Given the description of an element on the screen output the (x, y) to click on. 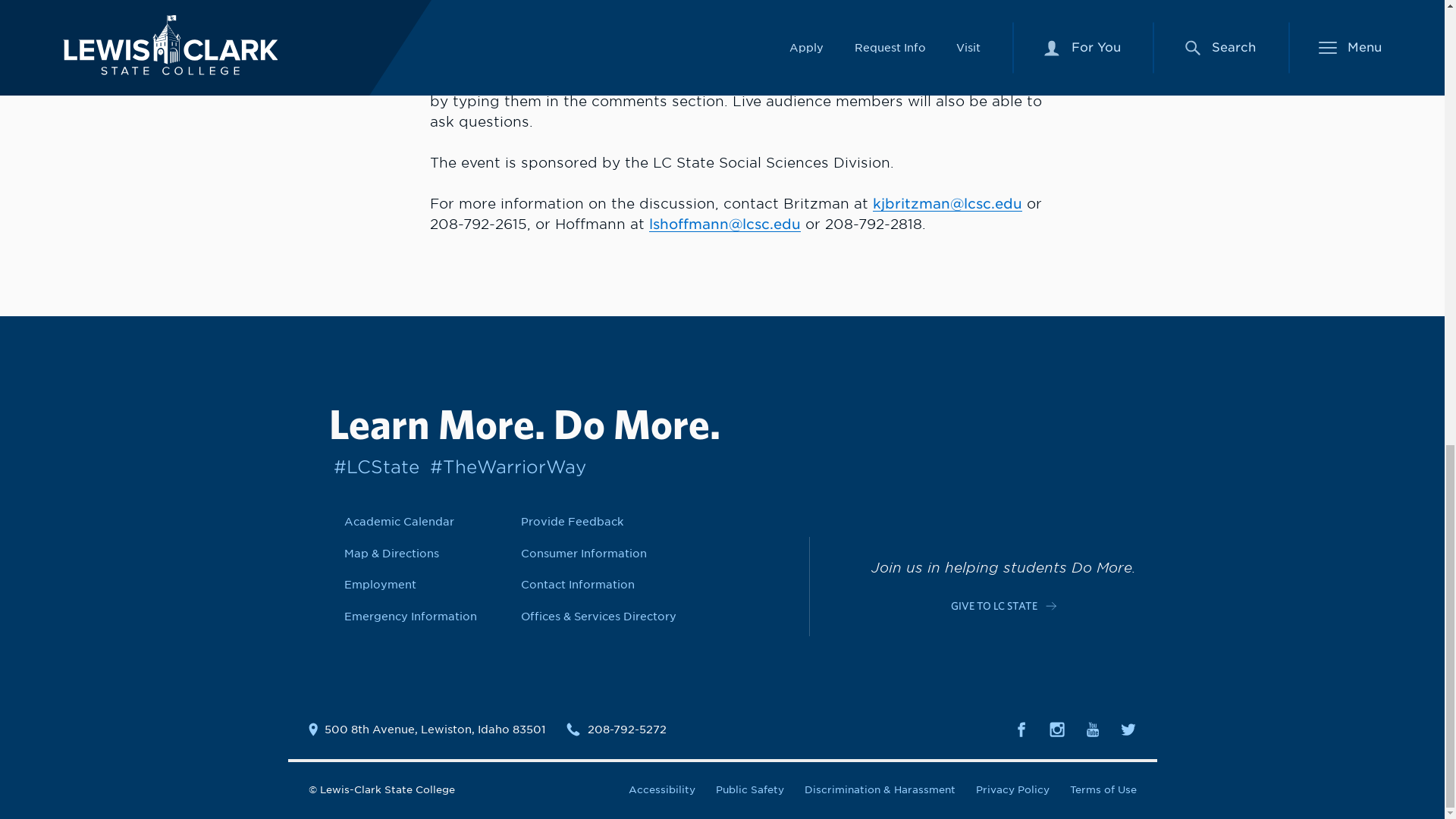
facebook--solid (1020, 729)
ARROW-RIGHT--LINE (1051, 605)
pin--solid (312, 729)
instagram--solid (1056, 729)
youtube--solid (1092, 729)
calls--solid (572, 729)
twitter--solid (1128, 729)
